Given the description of an element on the screen output the (x, y) to click on. 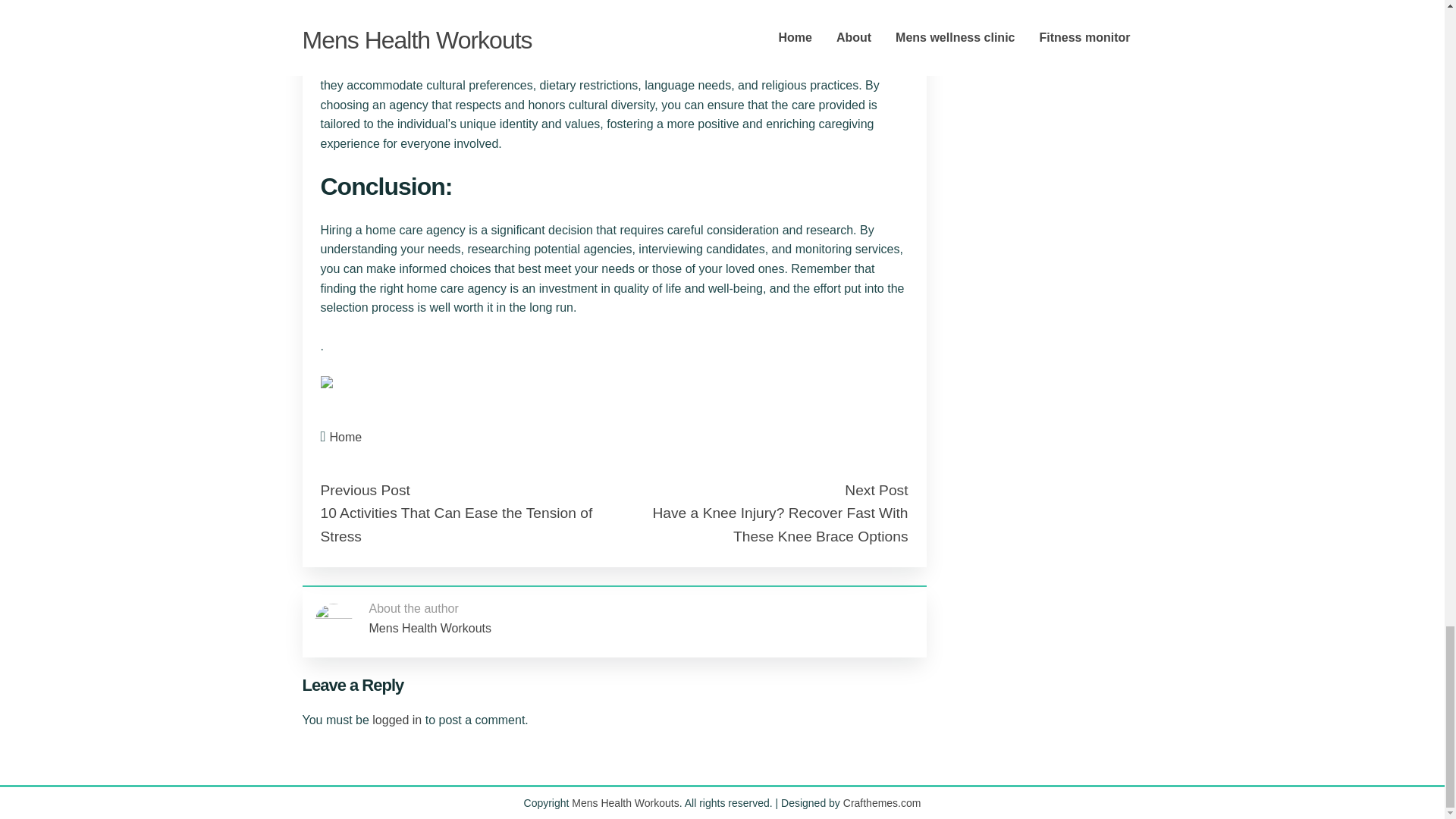
Next Post (875, 489)
Mens Health Workouts (625, 802)
Crafthemes.com (882, 802)
Mens Health Workouts (430, 627)
logged in (397, 719)
10 Activities That Can Ease the Tension of Stress (456, 524)
Home (346, 436)
Previous Post (364, 489)
